Given the description of an element on the screen output the (x, y) to click on. 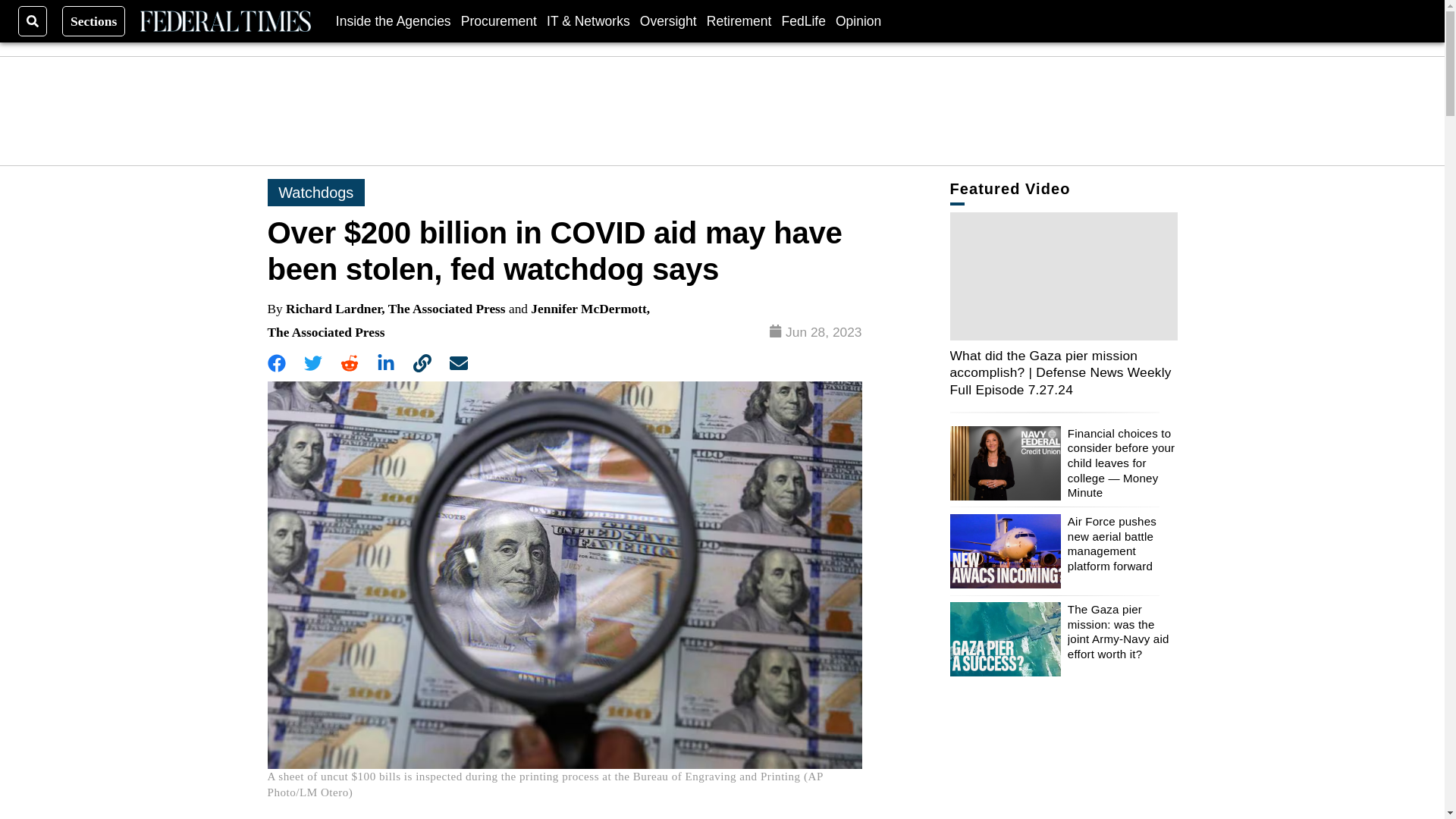
Inside the Agencies (393, 20)
Sections (93, 20)
Opinion (857, 20)
Federal Times Logo (224, 20)
FedLife (802, 20)
Retirement (738, 20)
Oversight (668, 20)
Procurement (499, 20)
